Given the description of an element on the screen output the (x, y) to click on. 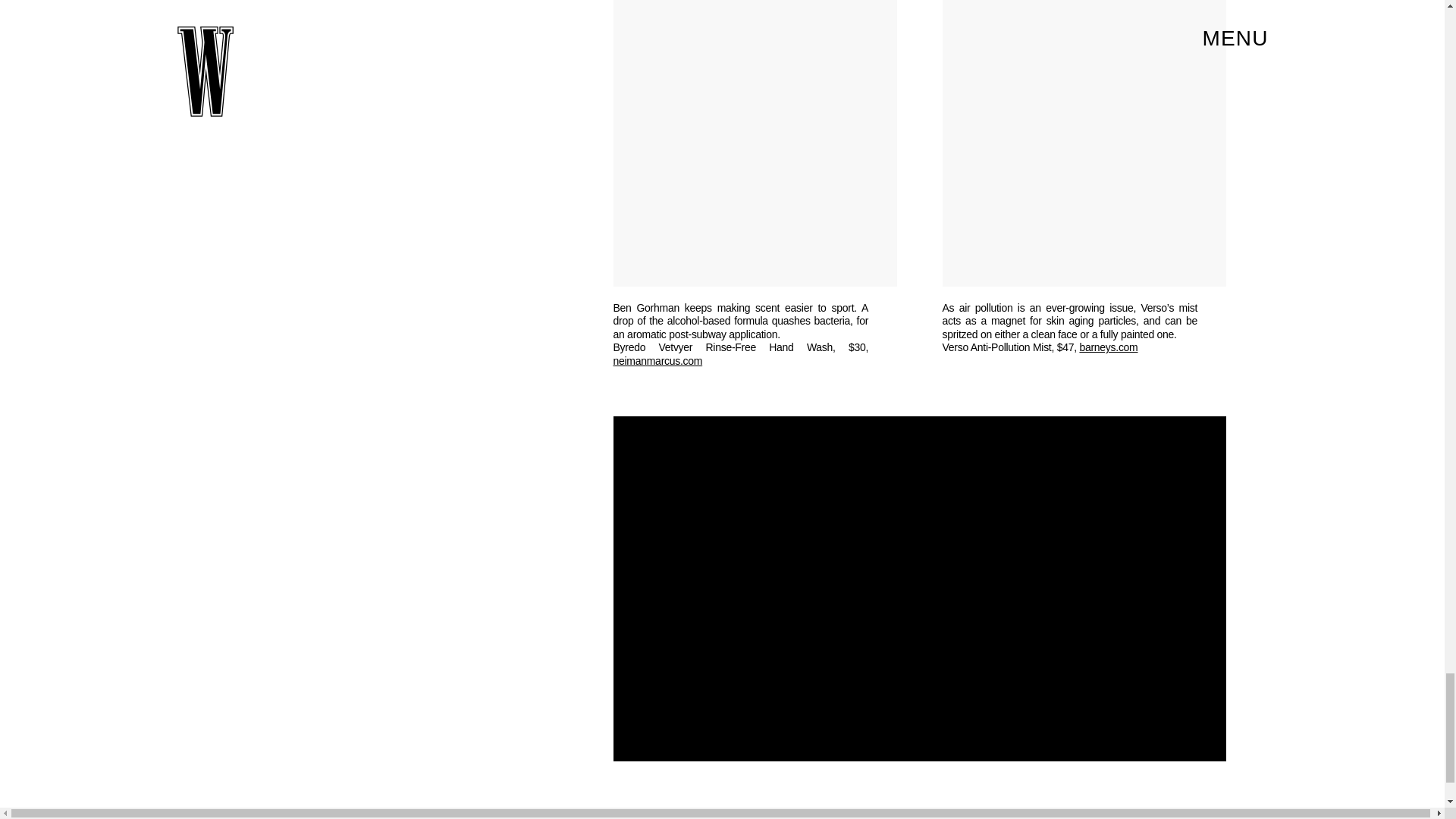
neimanmarcus.com (656, 360)
barneys.com (1107, 346)
